Given the description of an element on the screen output the (x, y) to click on. 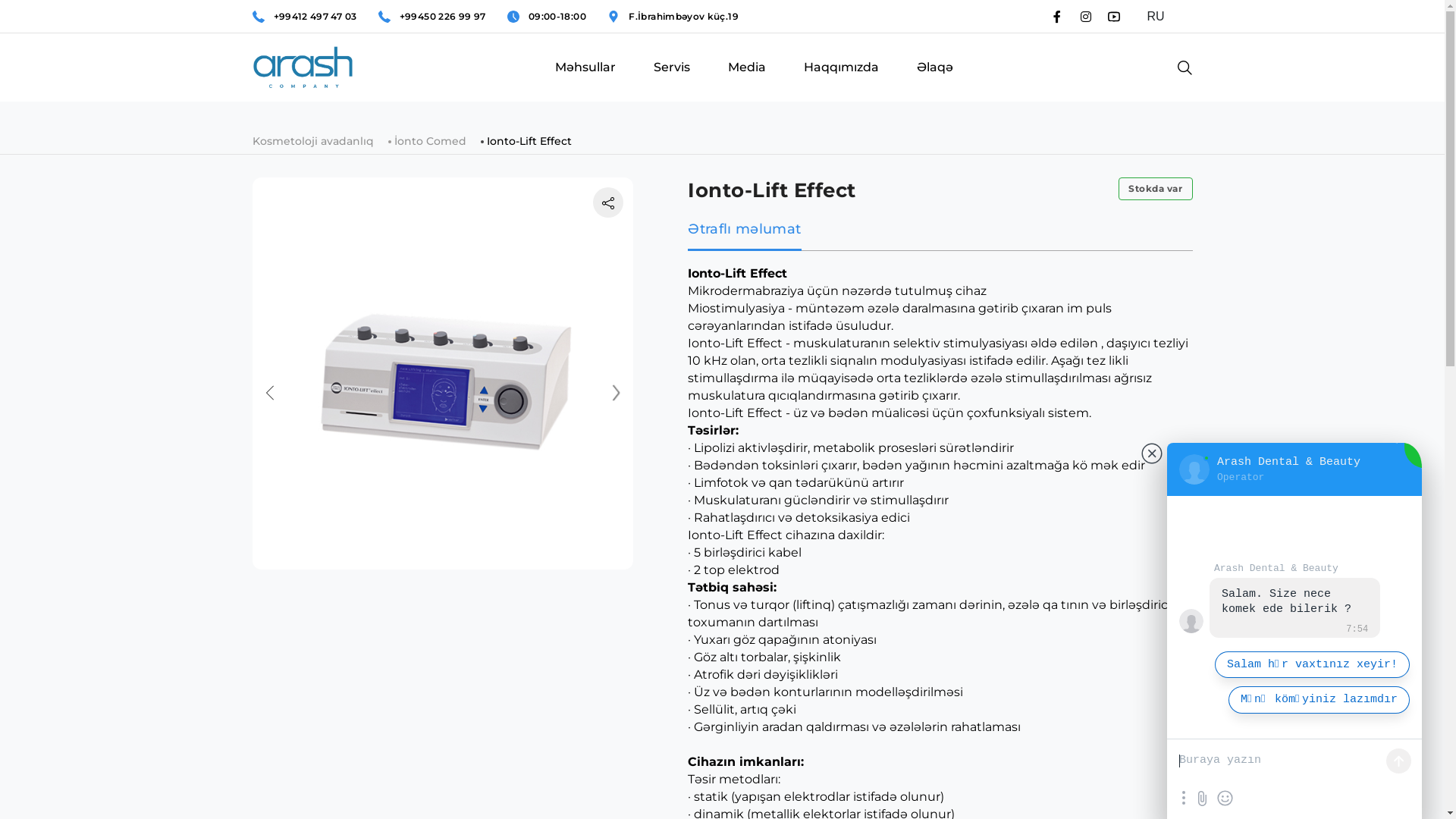
Media Element type: text (746, 81)
Ionto-Lift Effect Element type: text (528, 140)
Servis Element type: text (671, 81)
09:00-18:00 Element type: text (557, 16)
RU Element type: text (1163, 16)
+99450 226 99 97 Element type: text (442, 16)
Arash Dental & Beauty Element type: hover (1191, 620)
+99412 497 47 03 Element type: text (314, 16)
